Given the description of an element on the screen output the (x, y) to click on. 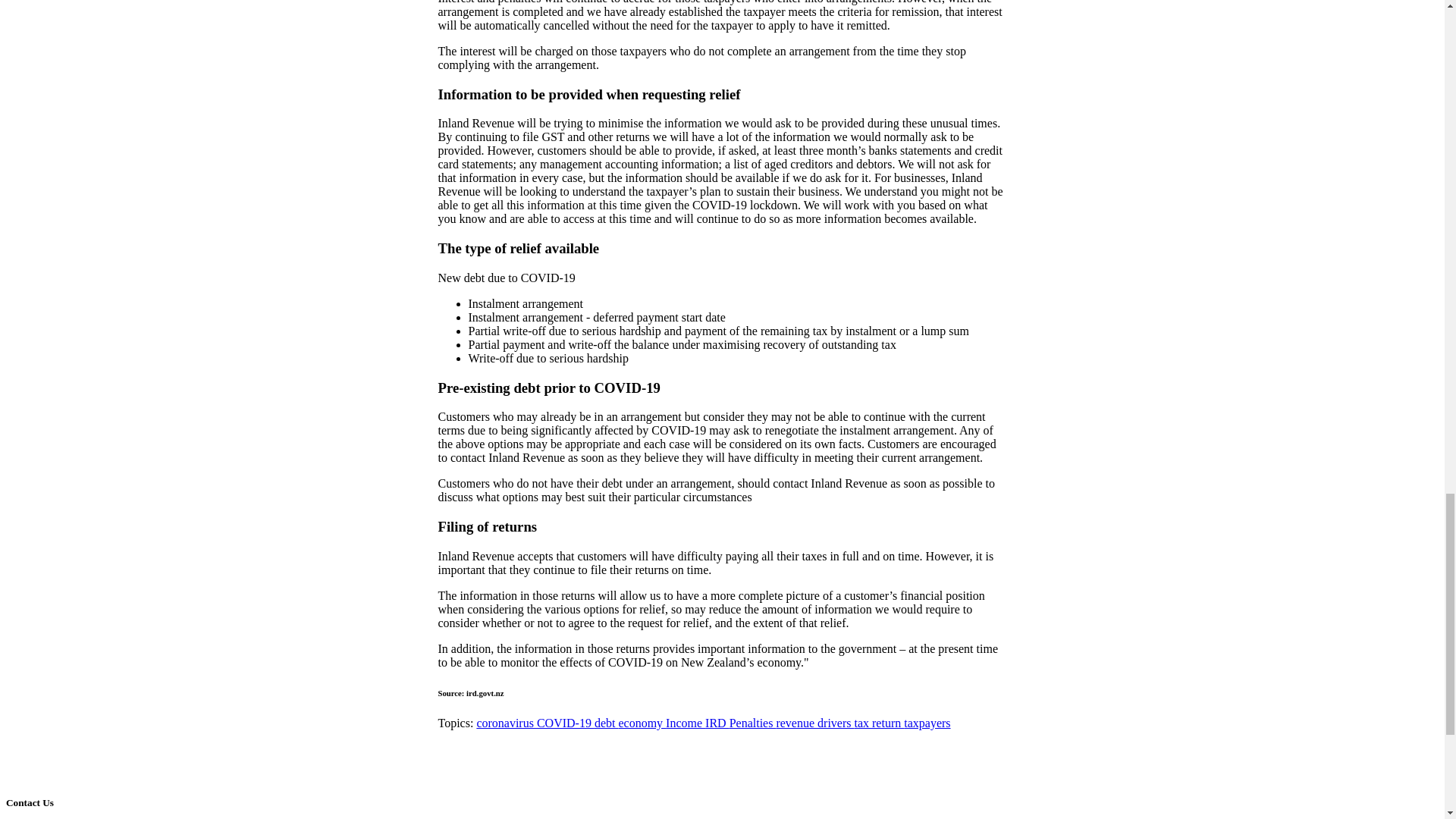
tax return (878, 722)
Penalties (752, 722)
taxpayers (927, 722)
Income (684, 722)
debt (606, 722)
revenue drivers (814, 722)
economy (641, 722)
IRD (716, 722)
coronavirus COVID-19 (535, 722)
